Given the description of an element on the screen output the (x, y) to click on. 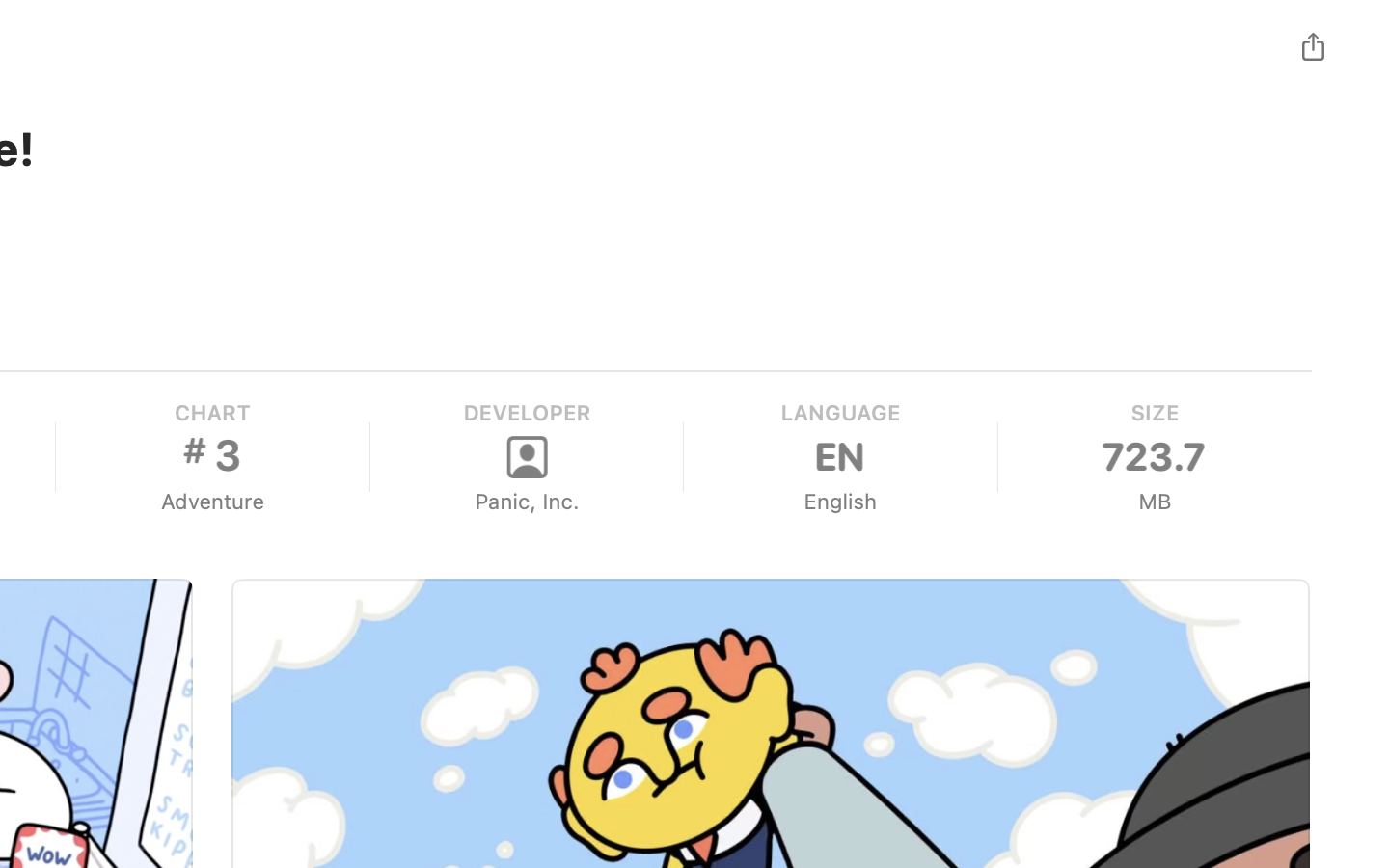
EN Element type: AXStaticText (840, 457)
MB Element type: AXStaticText (1153, 501)
DEVELOPER Element type: AXStaticText (526, 412)
LANGUAGE Element type: AXStaticText (839, 412)
Adventure Element type: AXStaticText (212, 501)
